Given the description of an element on the screen output the (x, y) to click on. 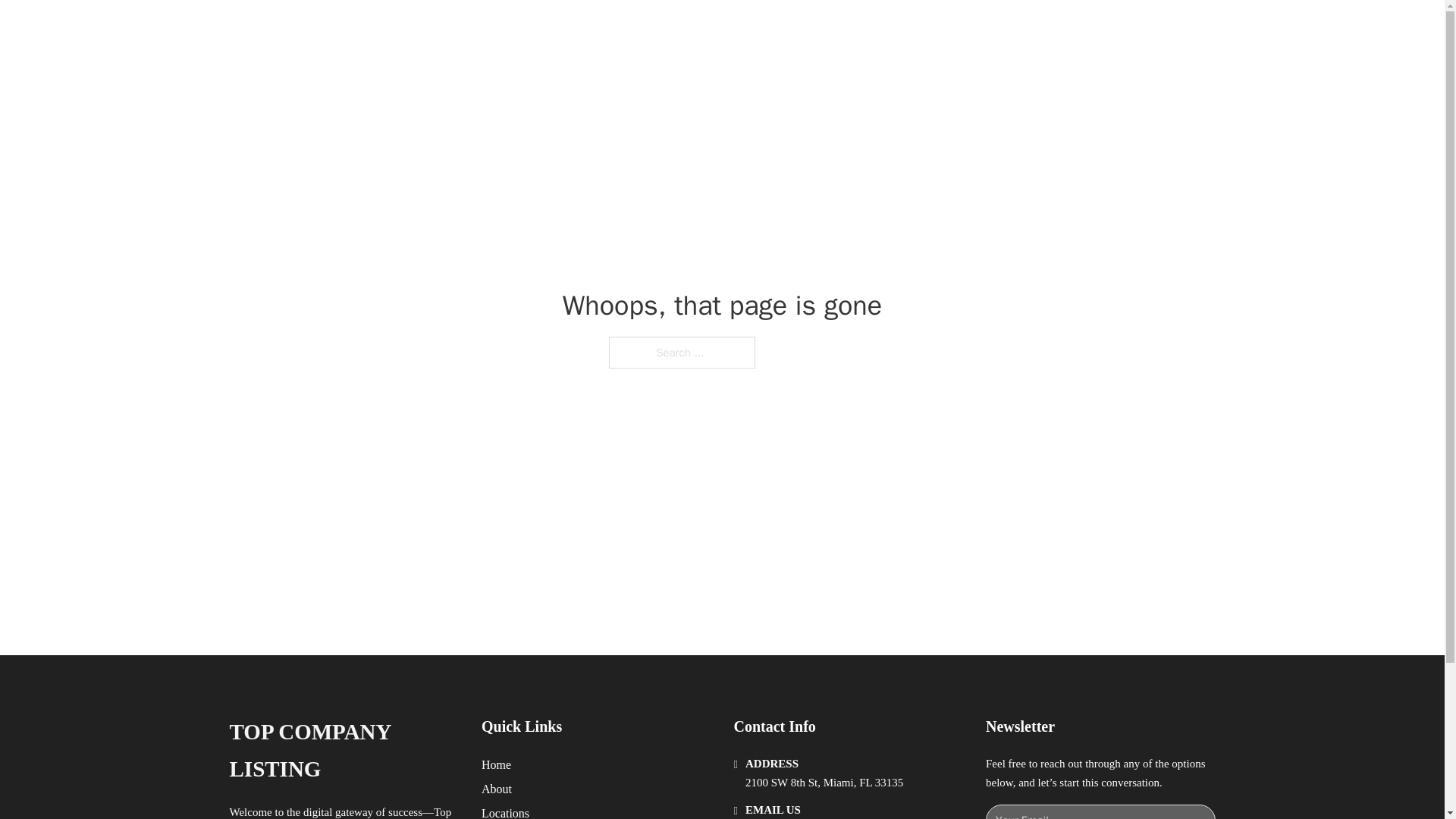
LOCATIONS (990, 29)
Home (496, 764)
HOME (919, 29)
Locations (505, 811)
About (496, 788)
TOP COMPANY LISTING (343, 750)
TOP COMPANY LISTING (424, 28)
